Given the description of an element on the screen output the (x, y) to click on. 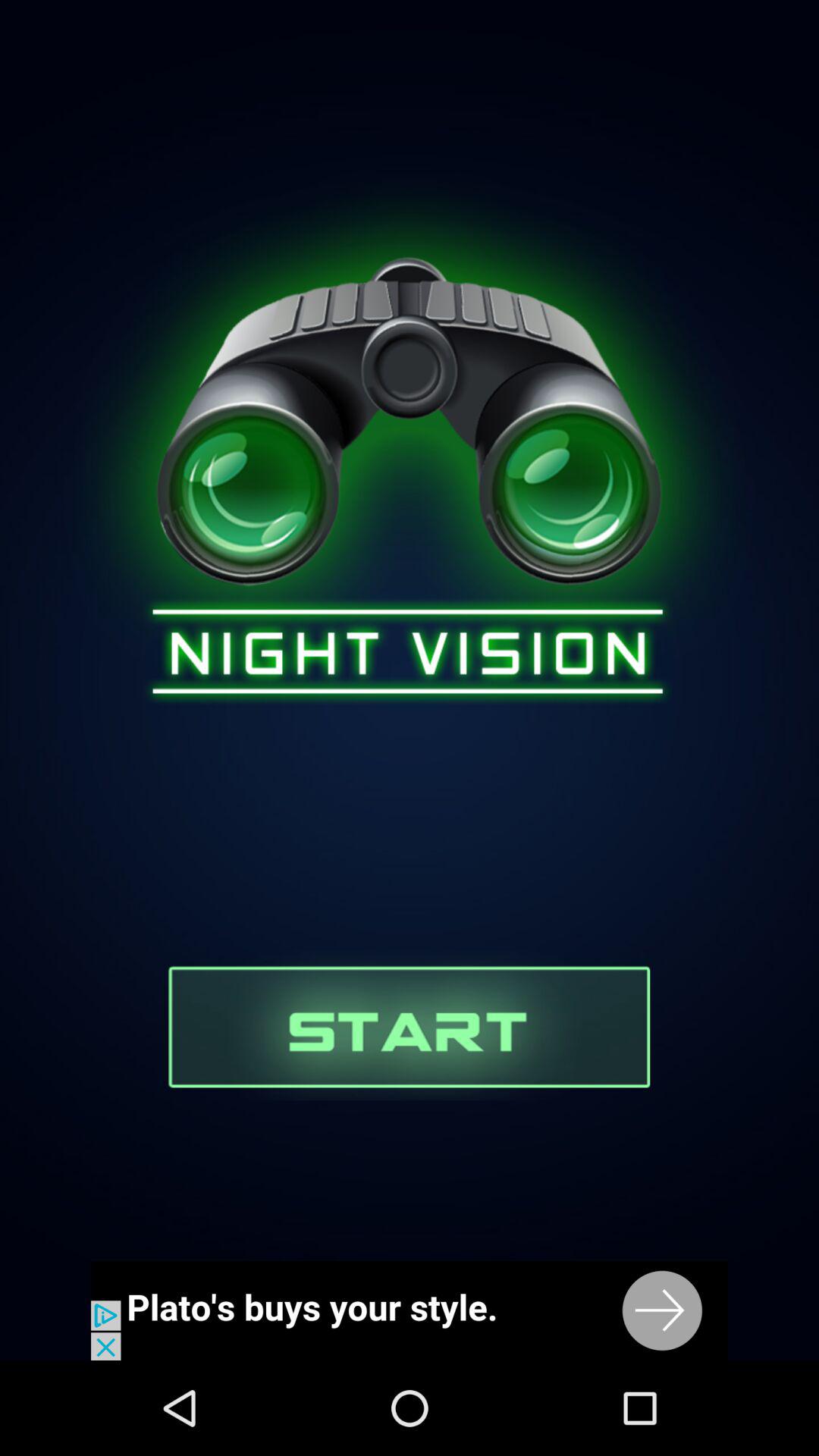
advertisement (409, 1310)
